Given the description of an element on the screen output the (x, y) to click on. 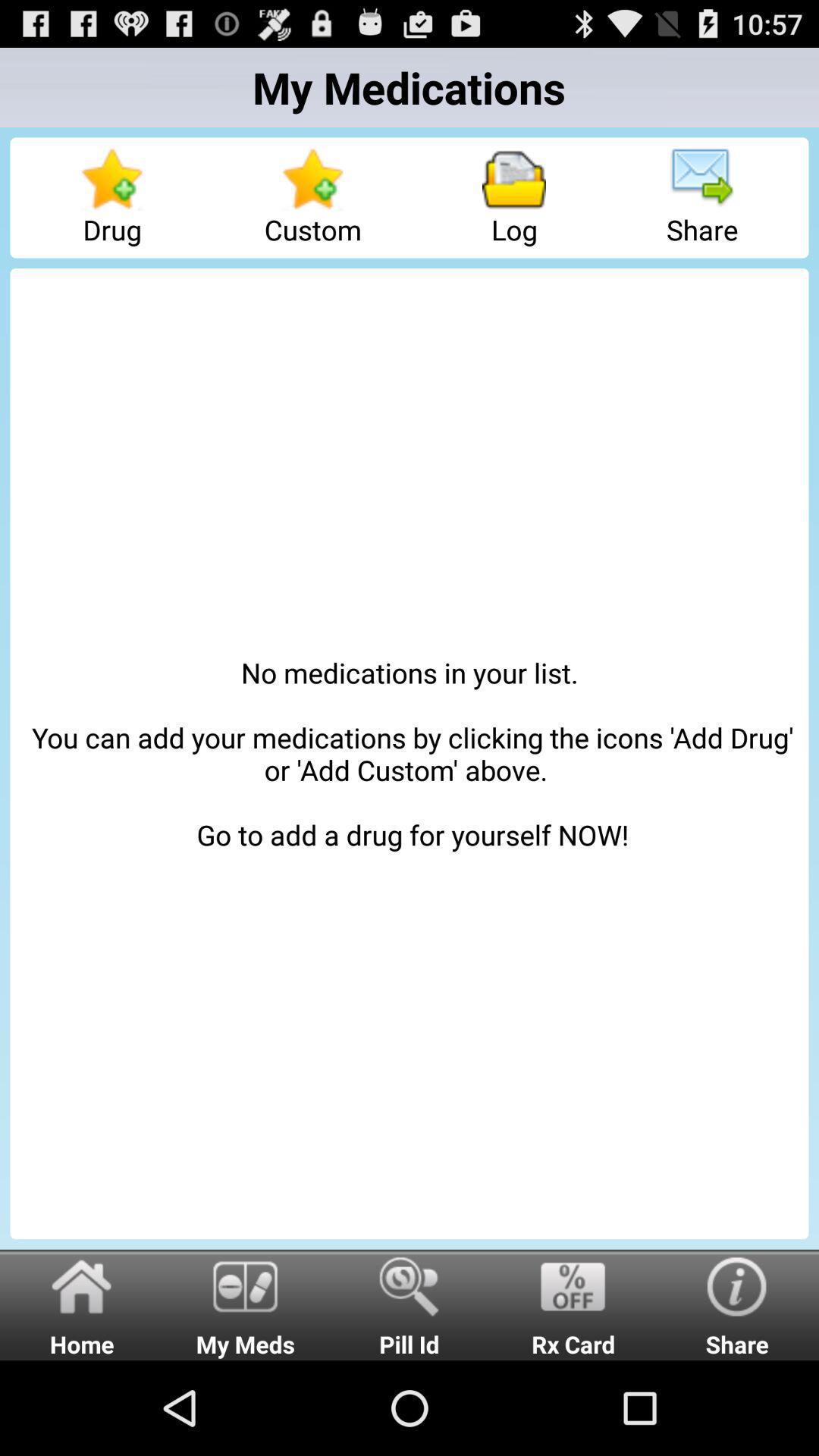
click icon at the bottom (409, 1304)
